Given the description of an element on the screen output the (x, y) to click on. 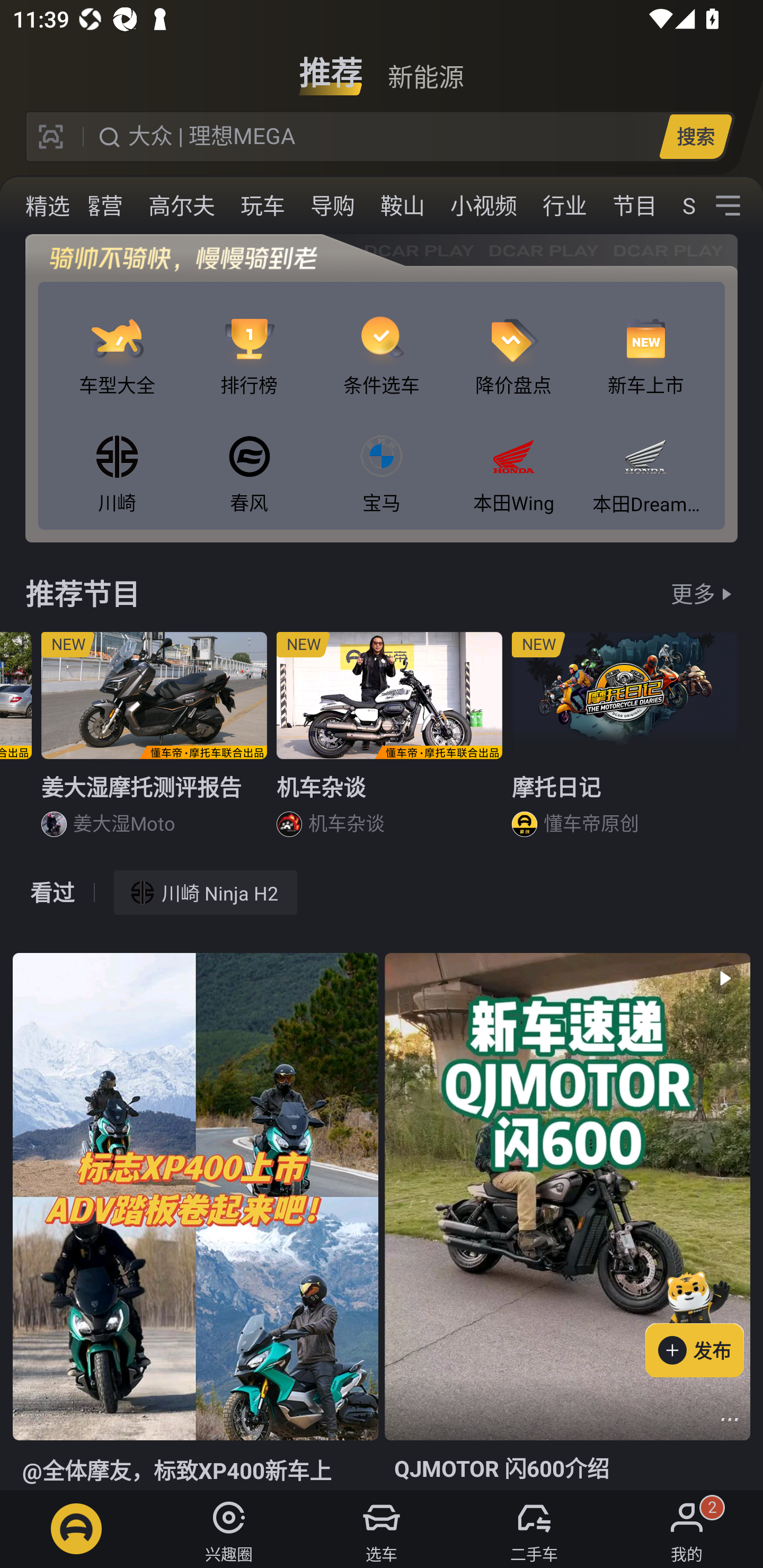
推荐 (330, 65)
新能源 (425, 65)
搜索 (695, 136)
手表 (32, 205)
露营 (100, 205)
高尔夫 (181, 205)
玩车 (262, 205)
导购 (332, 205)
鞍山 (402, 205)
小视频 (483, 205)
行业 (564, 205)
节目 (634, 205)
SUV (682, 205)
 (727, 205)
车型大全 (117, 340)
排行榜 (249, 340)
条件选车 (381, 340)
降价盘点 (513, 340)
新车上市 (645, 340)
川崎 (117, 458)
春风 (249, 458)
宝马 (381, 458)
本田Wing (513, 458)
本田DreamWing (645, 458)
更多 (692, 593)
NEW 姜大湿摩托测评报告 姜大湿Moto (154, 741)
NEW 机车杂谈 机车杂谈 (389, 741)
NEW 摩托日记 懂车帝原创 (624, 741)
川崎 Ninja H2 (205, 892)
@全体摩友，标致XP400新车上市，试驾体验抢先看！ (195, 1221)
  QJMOTOR 闪600介绍 (567, 1221)
发布 (704, 1320)
 (729, 1419)
 兴趣圈 (228, 1528)
 选车 (381, 1528)
 二手车 (533, 1528)
 我的 (686, 1528)
